Given the description of an element on the screen output the (x, y) to click on. 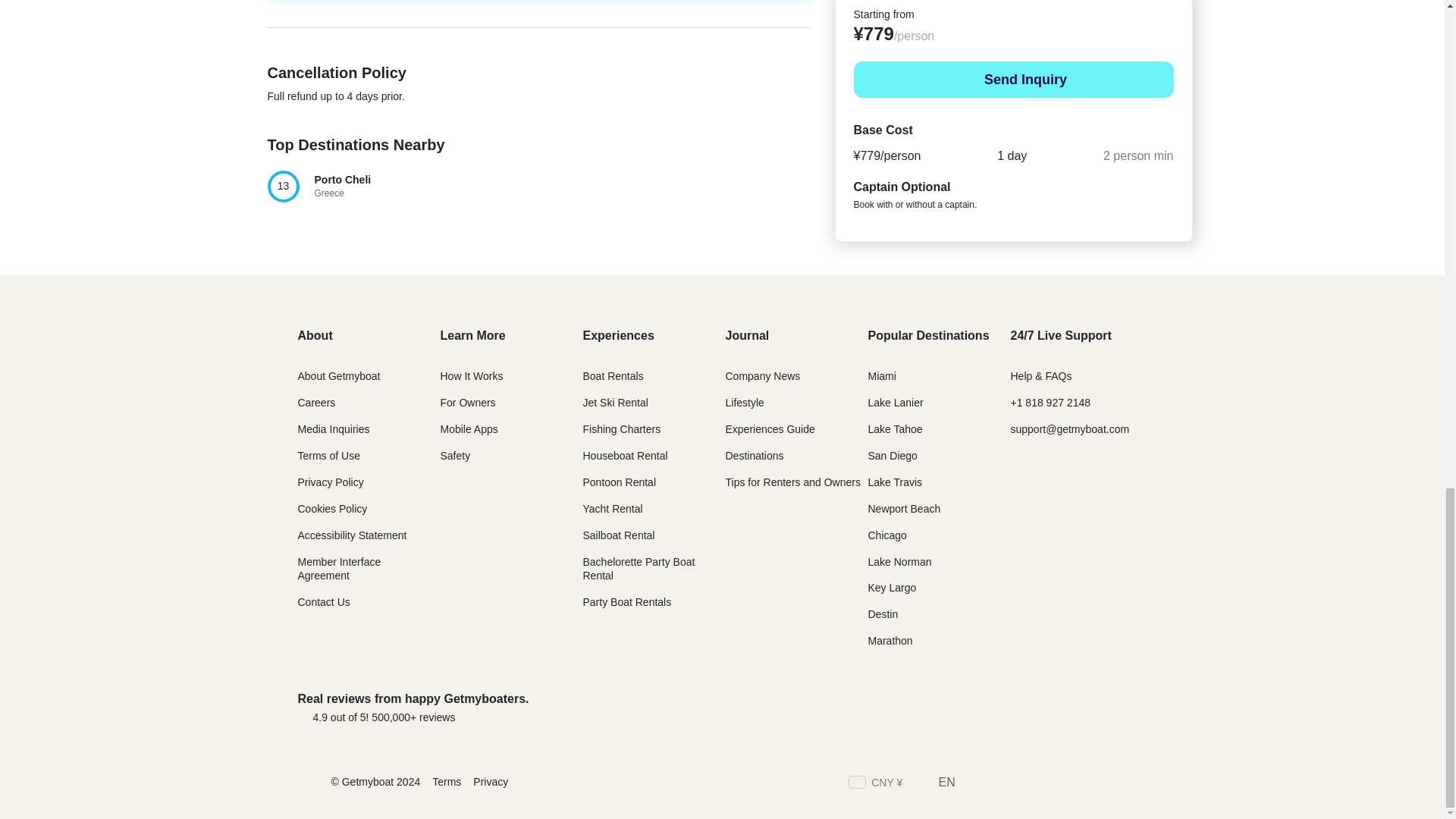
Download on the App Store (977, 707)
Terms of Use (328, 455)
Pinterest (1111, 784)
Fishing Charters (621, 428)
LinkedIn (1056, 784)
Facebook (975, 784)
How It Works (470, 376)
YouTube (1139, 784)
Media Inquiries (333, 428)
Experiences (617, 335)
TikTok (1084, 784)
Jet Ski Rental (614, 402)
Accessibility Statement (351, 535)
Twitter (1002, 784)
Boat Rentals (612, 376)
